Given the description of an element on the screen output the (x, y) to click on. 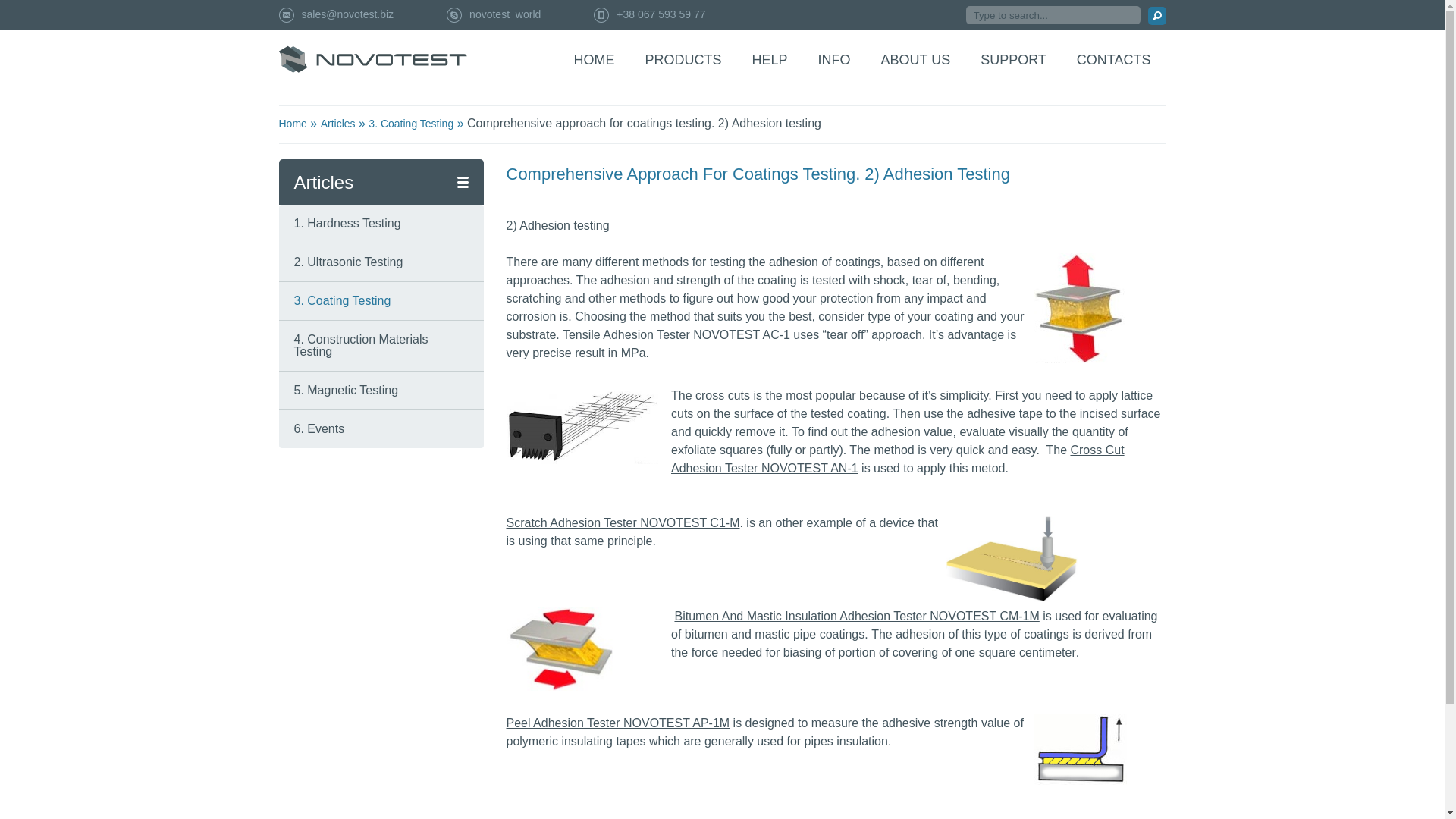
1. Hardness Testing (347, 223)
Peel Adhesion Tester NOVOTEST AP-1M (618, 722)
5. Magnetic Testing (346, 390)
2. Ultrasonic Testing (348, 261)
Adhesion testing (563, 225)
CONTACTS (1114, 59)
HOME (593, 59)
Tensile Adhesion Tester NOVOTEST AC-1 (676, 334)
Cross Cut Adhesion Tester NOVOTEST AN-1 (897, 459)
SUPPORT (1012, 59)
3. Coating Testing (342, 300)
Articles (337, 123)
Home (293, 123)
4. Construction Materials Testing (361, 344)
INFO (833, 59)
